Given the description of an element on the screen output the (x, y) to click on. 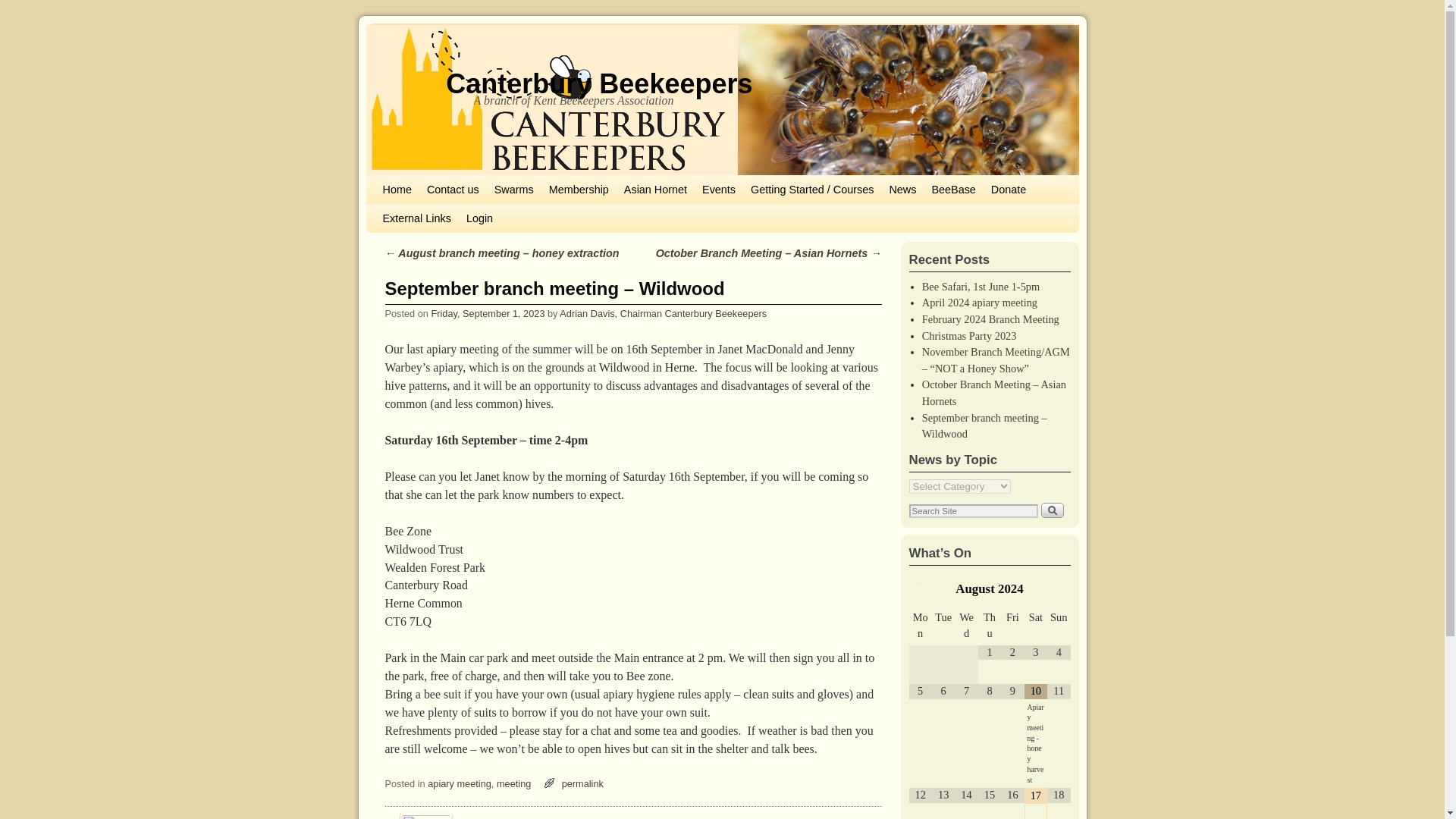
BeeBase (952, 189)
External Links (416, 217)
Skip to primary content (408, 182)
Swarms (513, 189)
Home (396, 189)
Friday, September 1, 2023 (487, 313)
Contact us (452, 189)
Events (718, 189)
meeting (513, 783)
Login (479, 217)
